Given the description of an element on the screen output the (x, y) to click on. 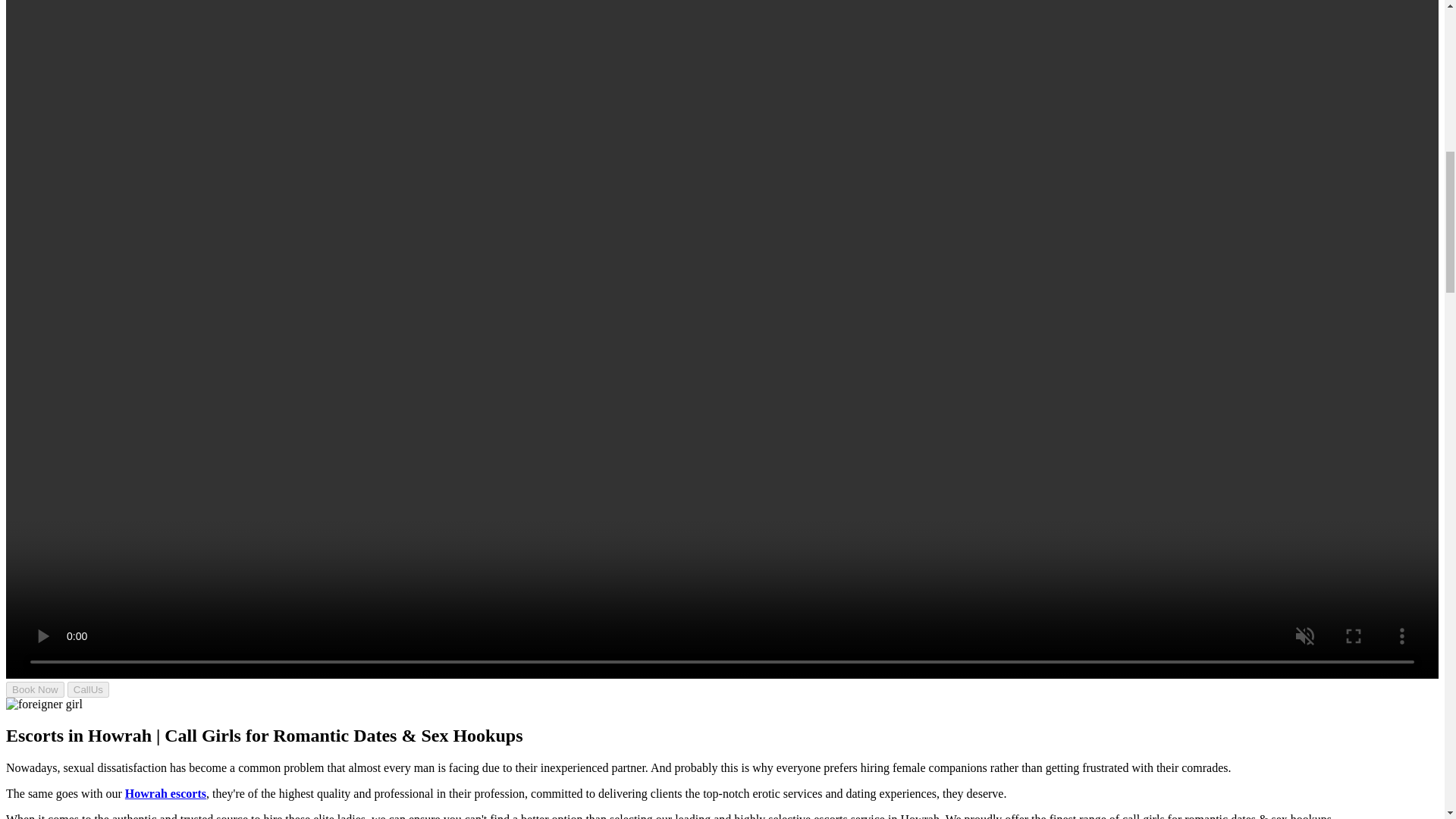
Book Now (34, 688)
CallUs (87, 688)
Howrah escorts (165, 793)
